Given the description of an element on the screen output the (x, y) to click on. 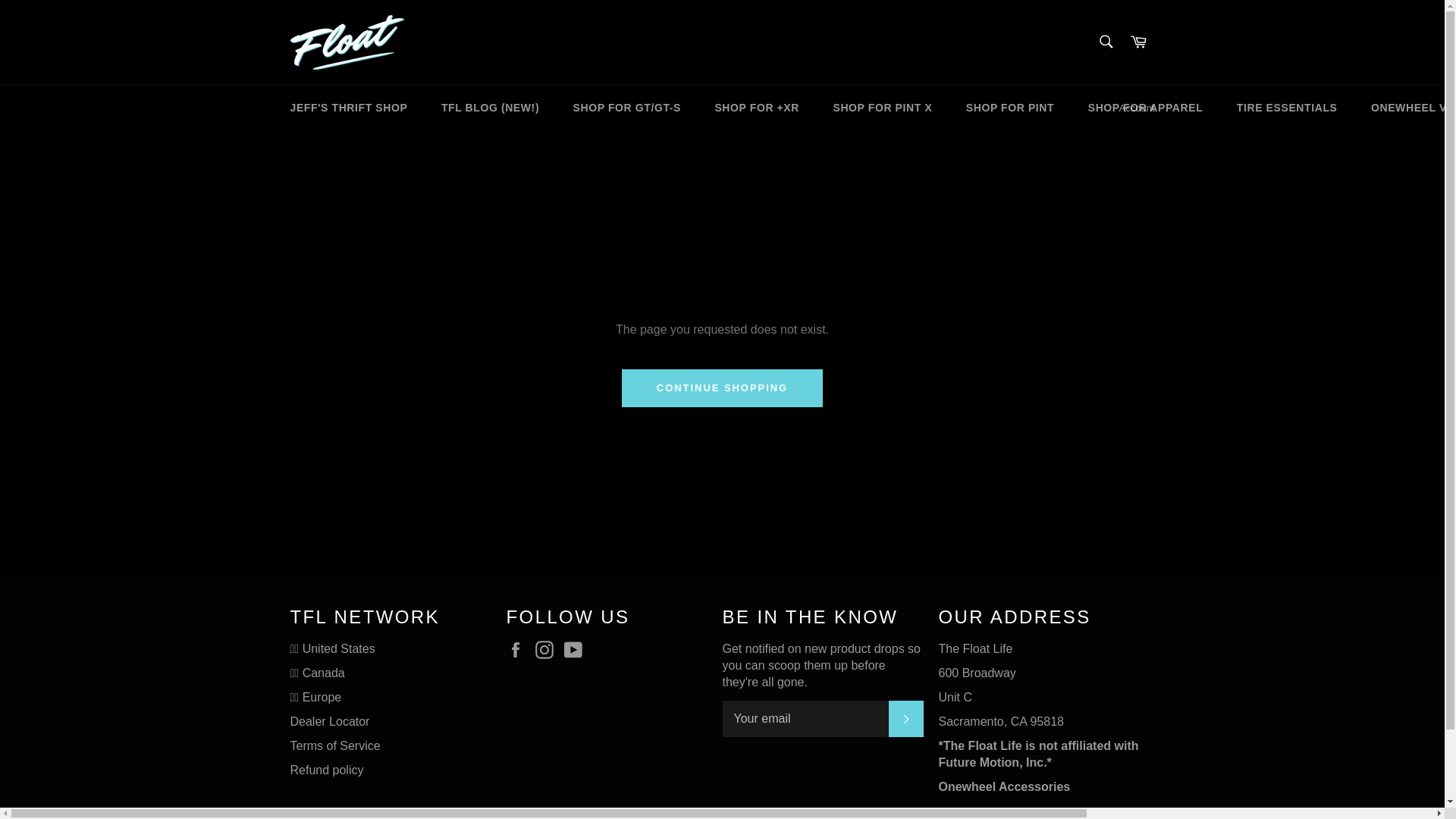
SHOP FOR APPAREL (1145, 107)
Cart (1138, 42)
The Float Life on Instagram (547, 649)
SHOP FOR PINT (1009, 107)
ONEWHEEL VIDEOS (1405, 107)
Search (1104, 41)
SHOP FOR PINT X (881, 107)
The Float Life on YouTube (576, 649)
The Float Life on Facebook (519, 649)
TIRE ESSENTIALS (1286, 107)
Account (1136, 108)
JEFF'S THRIFT SHOP (348, 107)
